Given the description of an element on the screen output the (x, y) to click on. 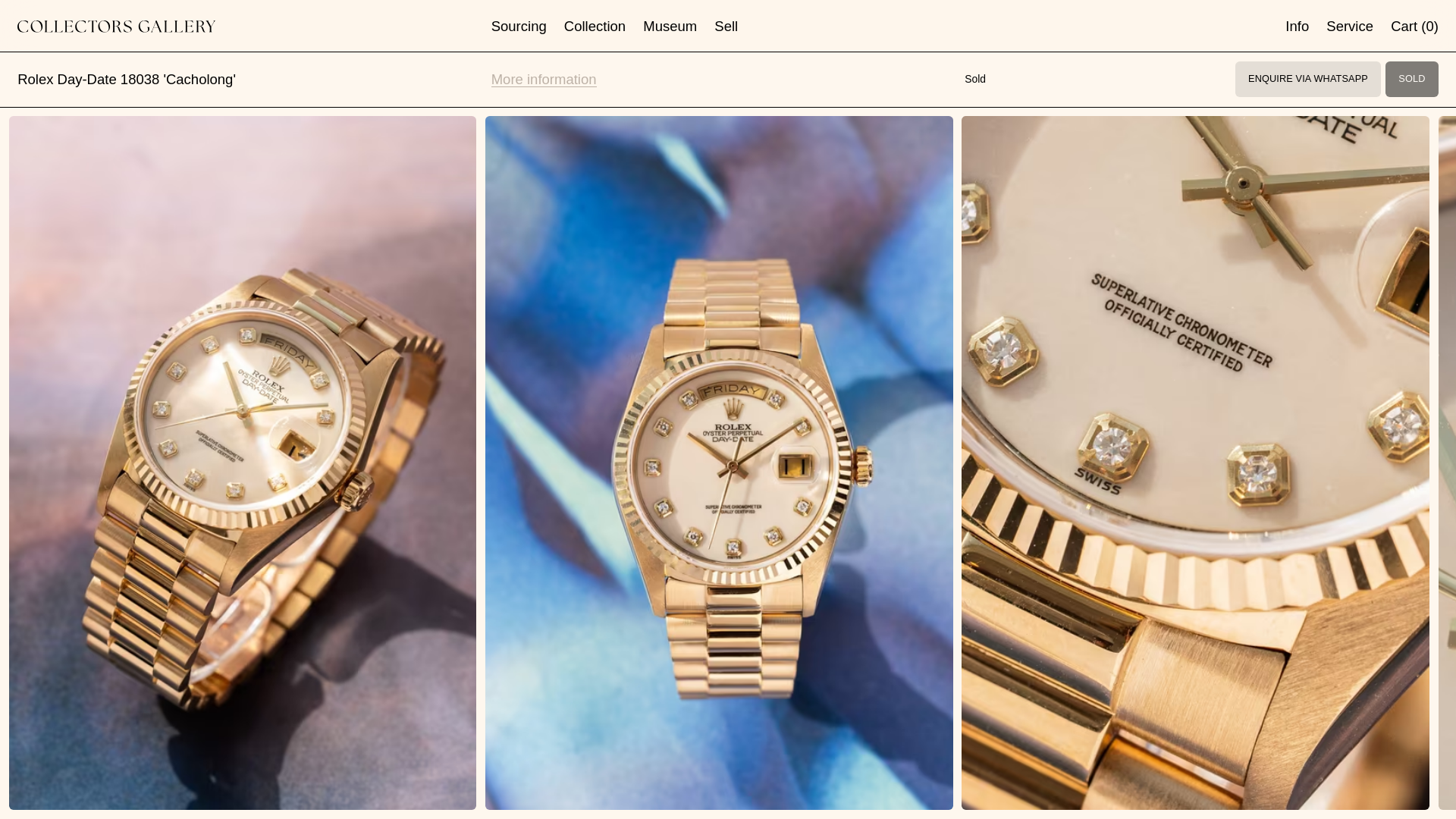
Museum (670, 26)
More information (544, 78)
Sourcing (519, 26)
Collection (595, 26)
SOLD (1412, 79)
ENQUIRE VIA WHATSAPP (1307, 79)
Sell (726, 26)
Service (1349, 26)
Info (1296, 26)
